Given the description of an element on the screen output the (x, y) to click on. 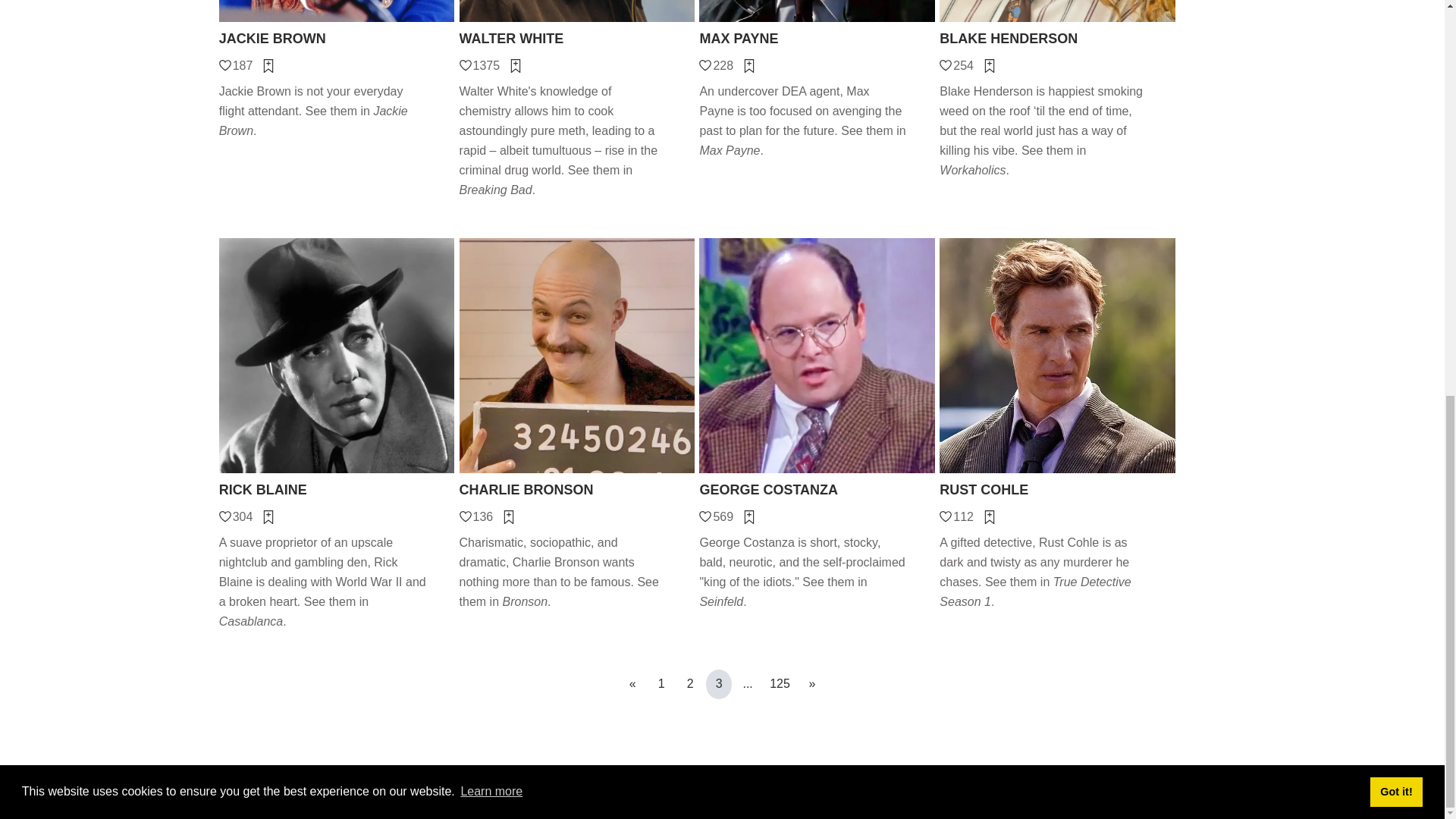
Learn more (491, 26)
JACKIE BROWN (336, 38)
BLAKE HENDERSON (1056, 38)
MAX PAYNE (816, 38)
Got it! (1396, 27)
WALTER WHITE (577, 38)
